Given the description of an element on the screen output the (x, y) to click on. 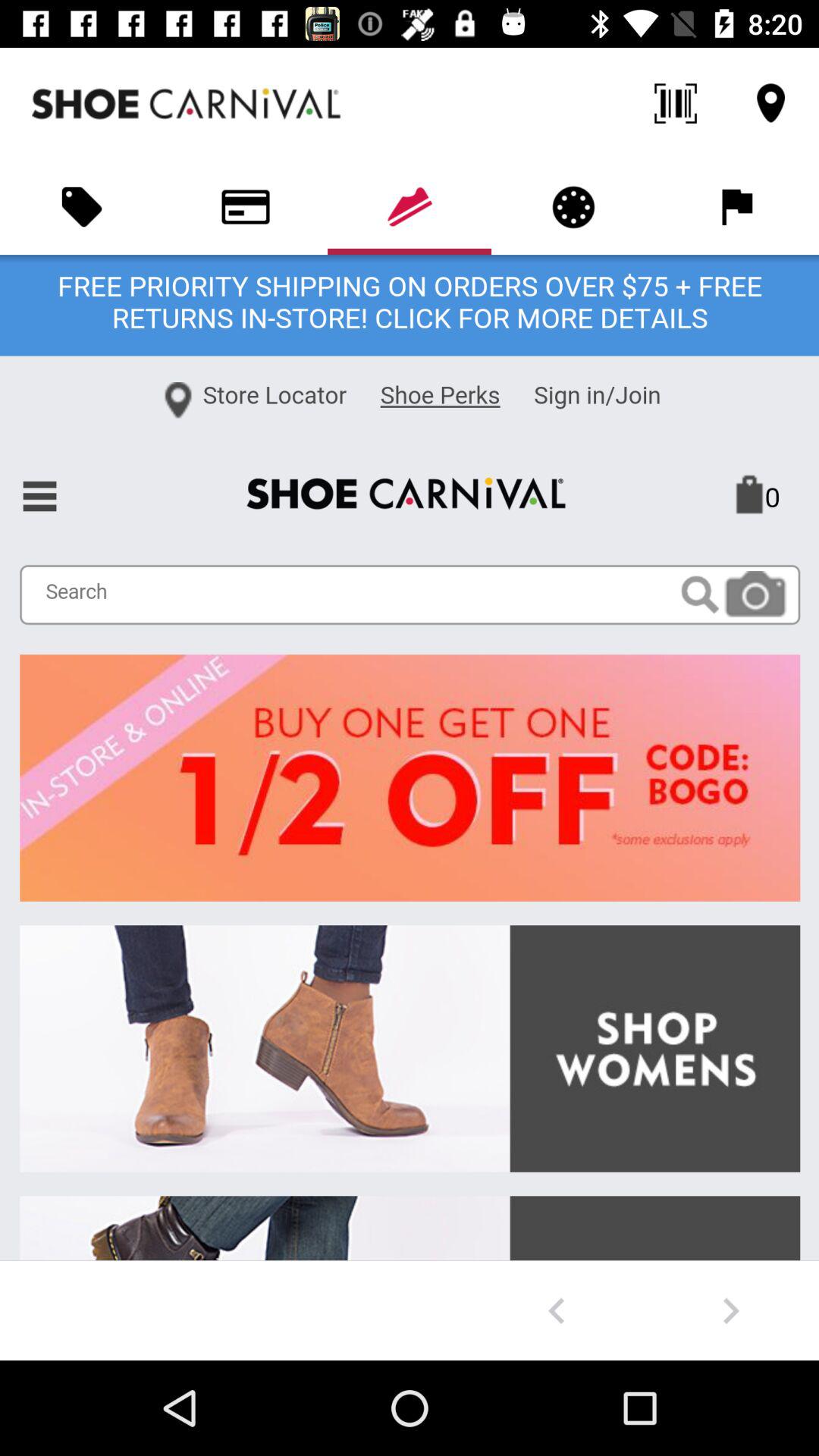
go forward (731, 1310)
